Given the description of an element on the screen output the (x, y) to click on. 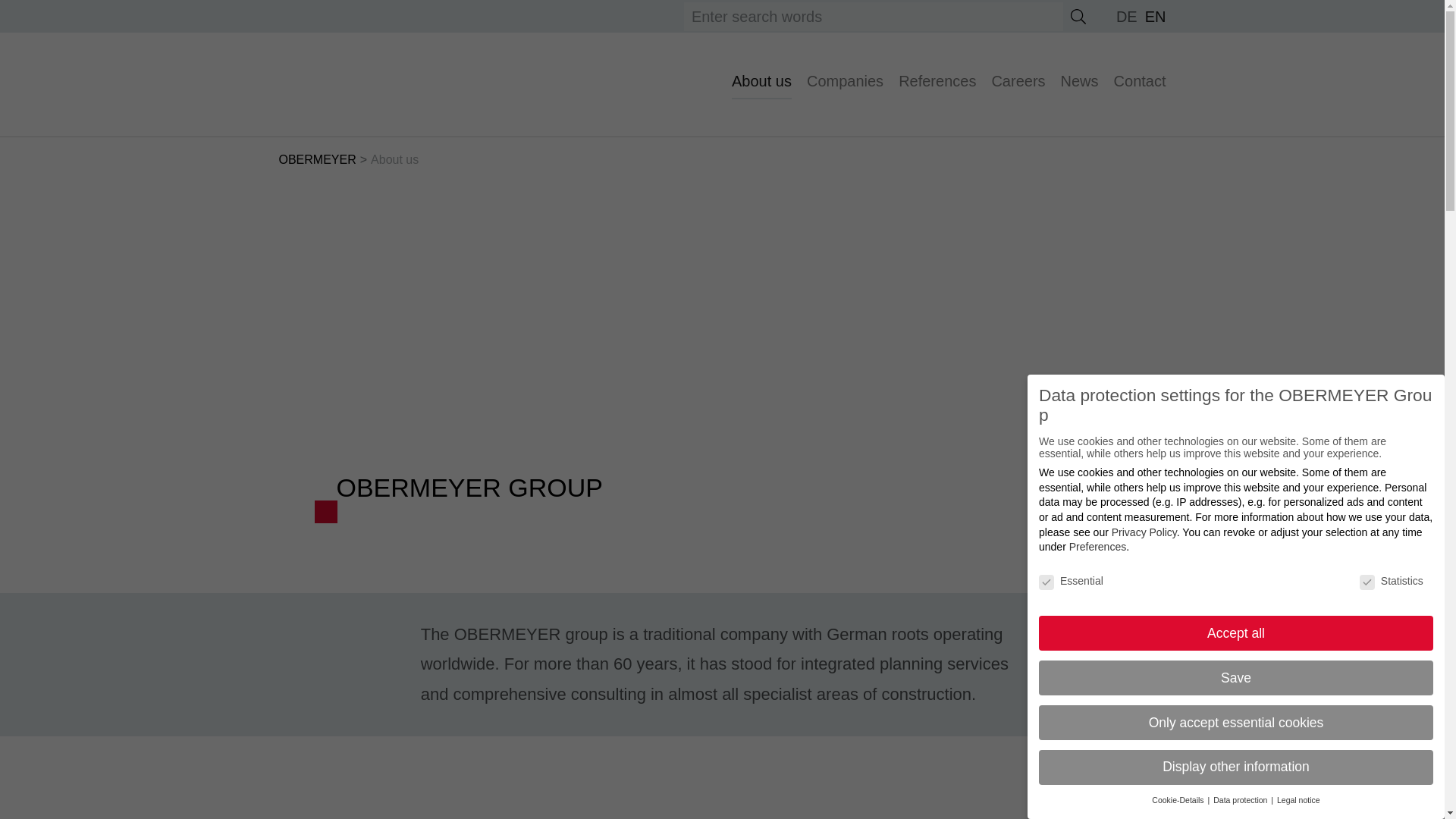
News (1079, 81)
OBERMEYER (317, 159)
References (937, 81)
DE (1126, 16)
OBERMEYER Gruppe (291, 83)
EN (1155, 16)
Companies (845, 81)
Careers (1018, 81)
Contact (1139, 81)
About us (761, 81)
